Given the description of an element on the screen output the (x, y) to click on. 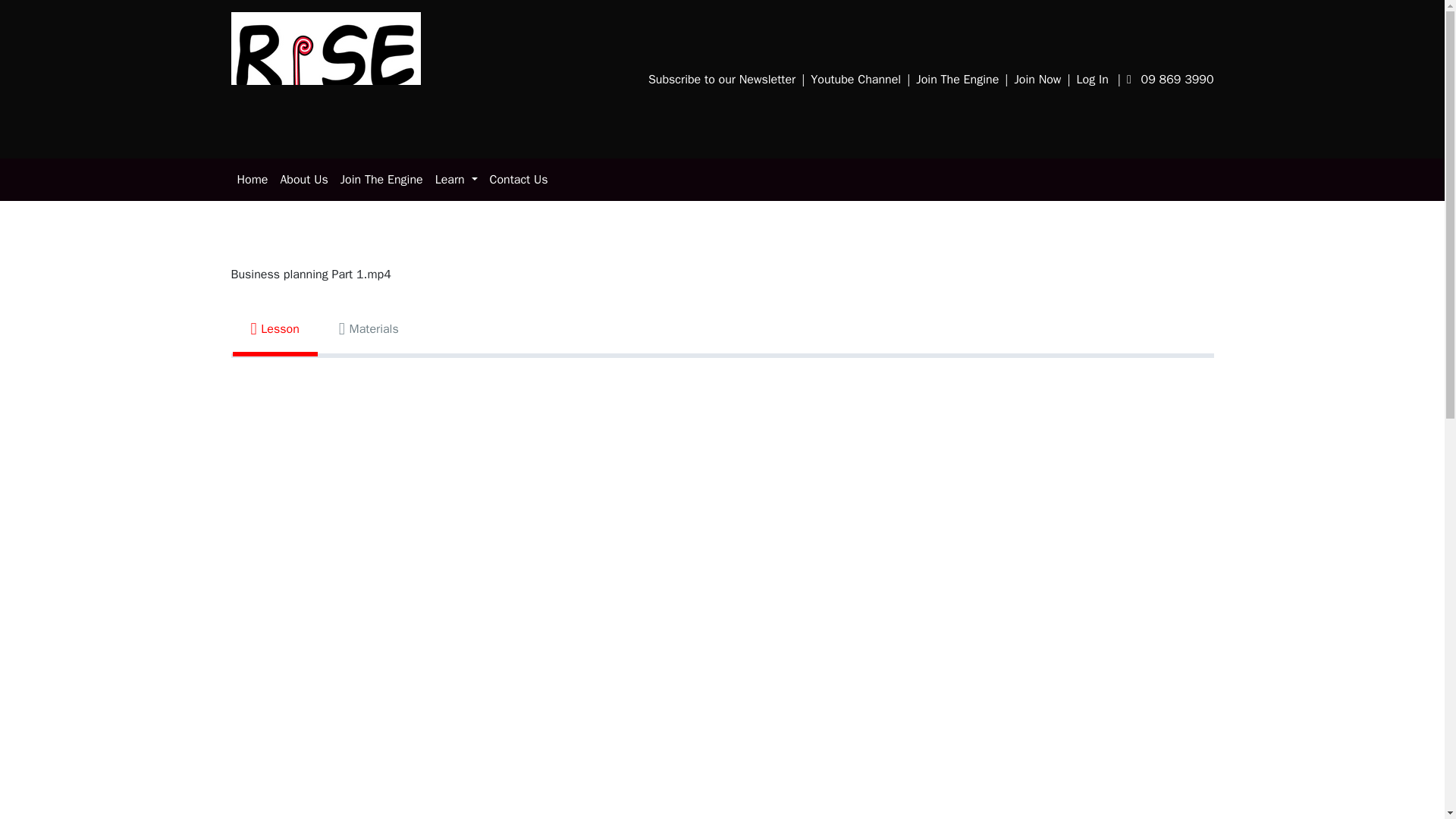
Join The Engine (381, 179)
Contact Us (518, 179)
Materials (368, 328)
Home (251, 179)
About Us (303, 179)
09 869 3990 (1170, 78)
Learn (456, 179)
Join Now (1040, 78)
Learn (456, 179)
